Given the description of an element on the screen output the (x, y) to click on. 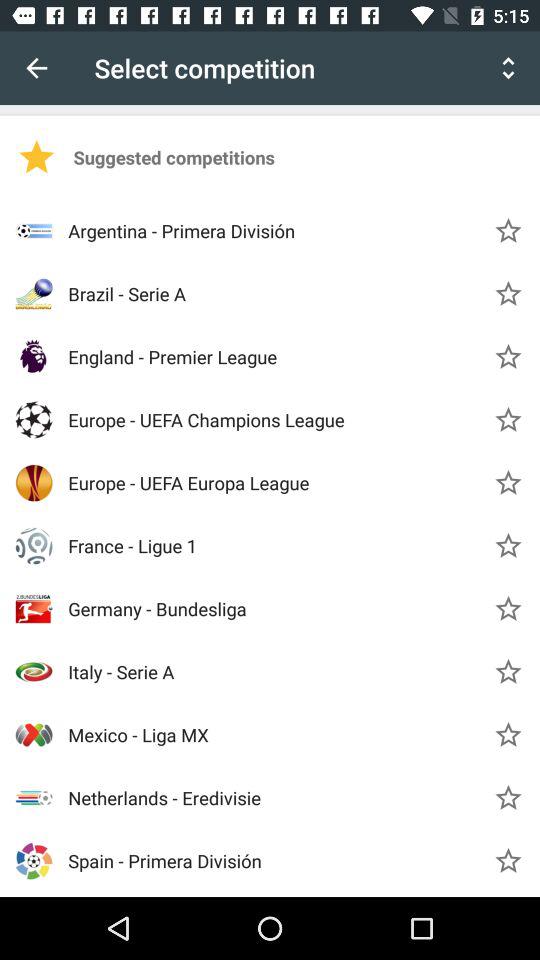
choose icon to the right of select competition (508, 67)
